Given the description of an element on the screen output the (x, y) to click on. 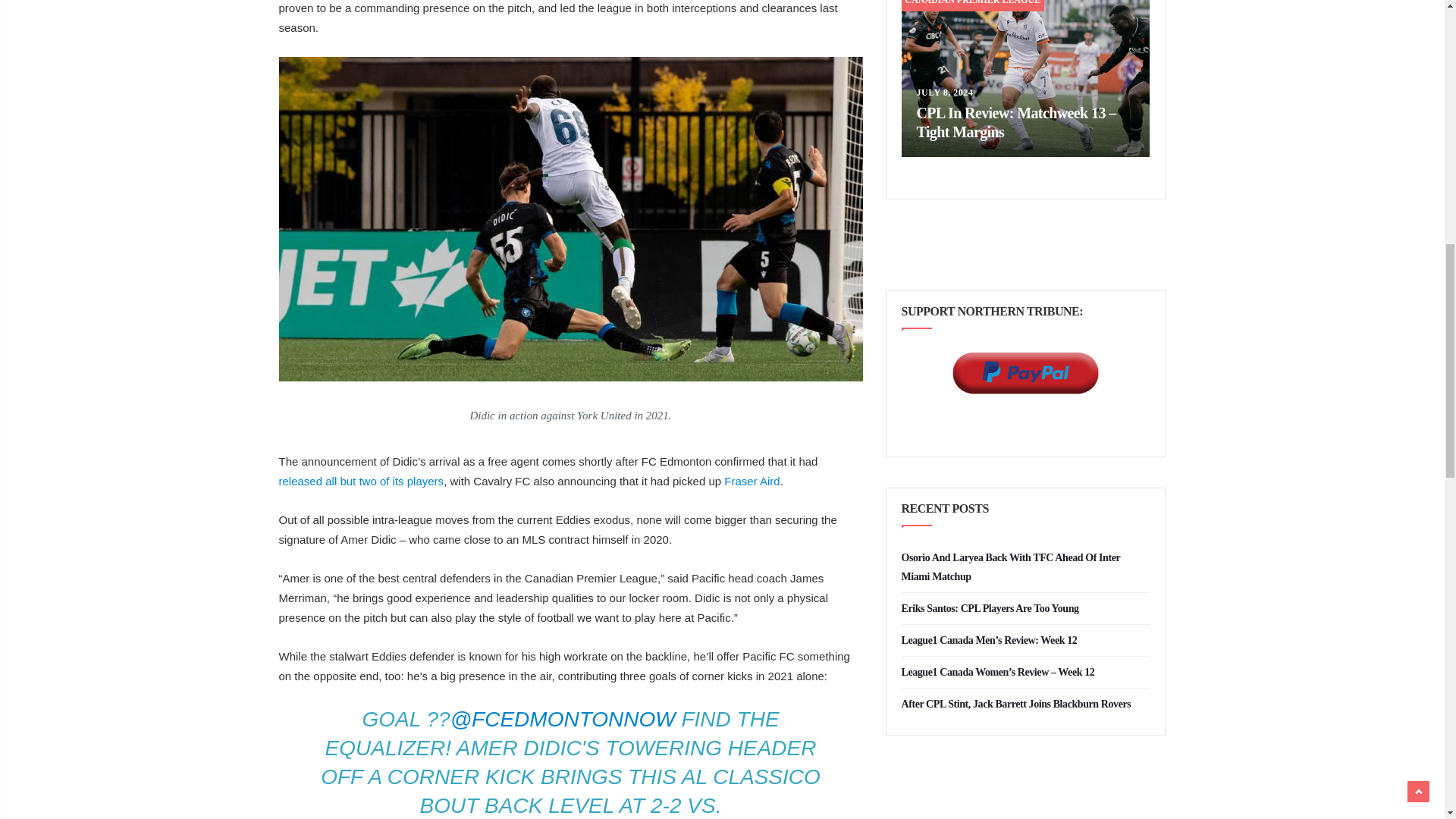
Fraser Aird (750, 481)
released all but two of its players (361, 481)
